Given the description of an element on the screen output the (x, y) to click on. 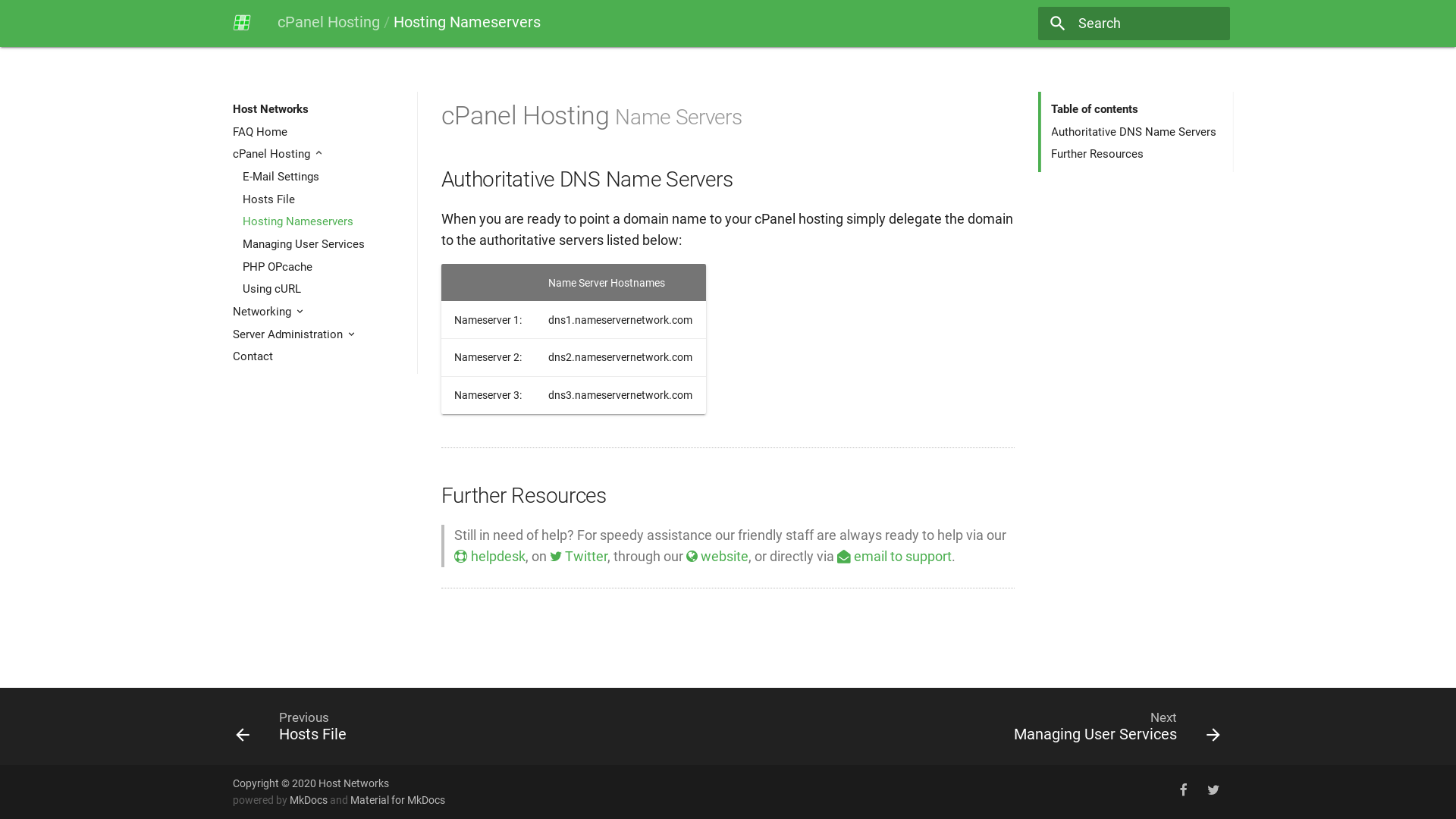
email to support Element type: text (894, 556)
Managing User Services Element type: text (324, 243)
Hosting Nameservers Element type: text (324, 221)
Authoritative DNS Name Servers Element type: text (1136, 131)
Next
Managing User Services Element type: text (980, 726)
PHP OPcache Element type: text (324, 266)
E-Mail Settings Element type: text (324, 176)
Material for MkDocs Element type: text (397, 799)
Hosts File Element type: text (324, 199)
helpdesk Element type: text (489, 556)
Contact Element type: text (319, 356)
FAQ Home Element type: text (319, 131)
Twitter Element type: text (578, 556)
website Element type: text (717, 556)
MkDocs Element type: text (308, 799)
Further Resources Element type: text (1136, 153)
Using cURL Element type: text (324, 288)
Host Networks Element type: hover (241, 22)
Previous
Hosts File Element type: text (475, 726)
